Given the description of an element on the screen output the (x, y) to click on. 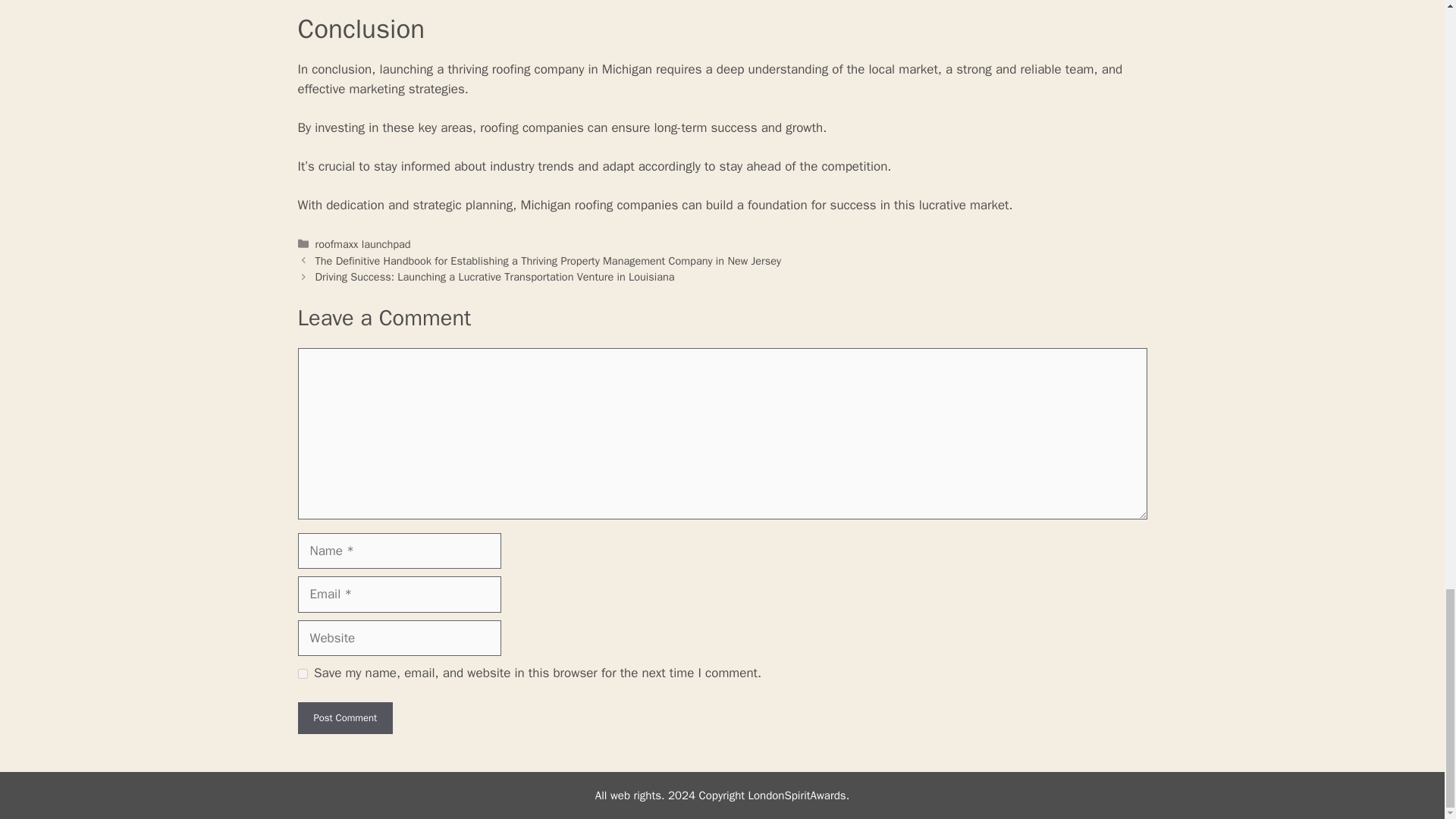
Post Comment (345, 717)
LondonSpiritAwards (796, 795)
yes (302, 673)
roofmaxx launchpad (362, 243)
Post Comment (345, 717)
